Given the description of an element on the screen output the (x, y) to click on. 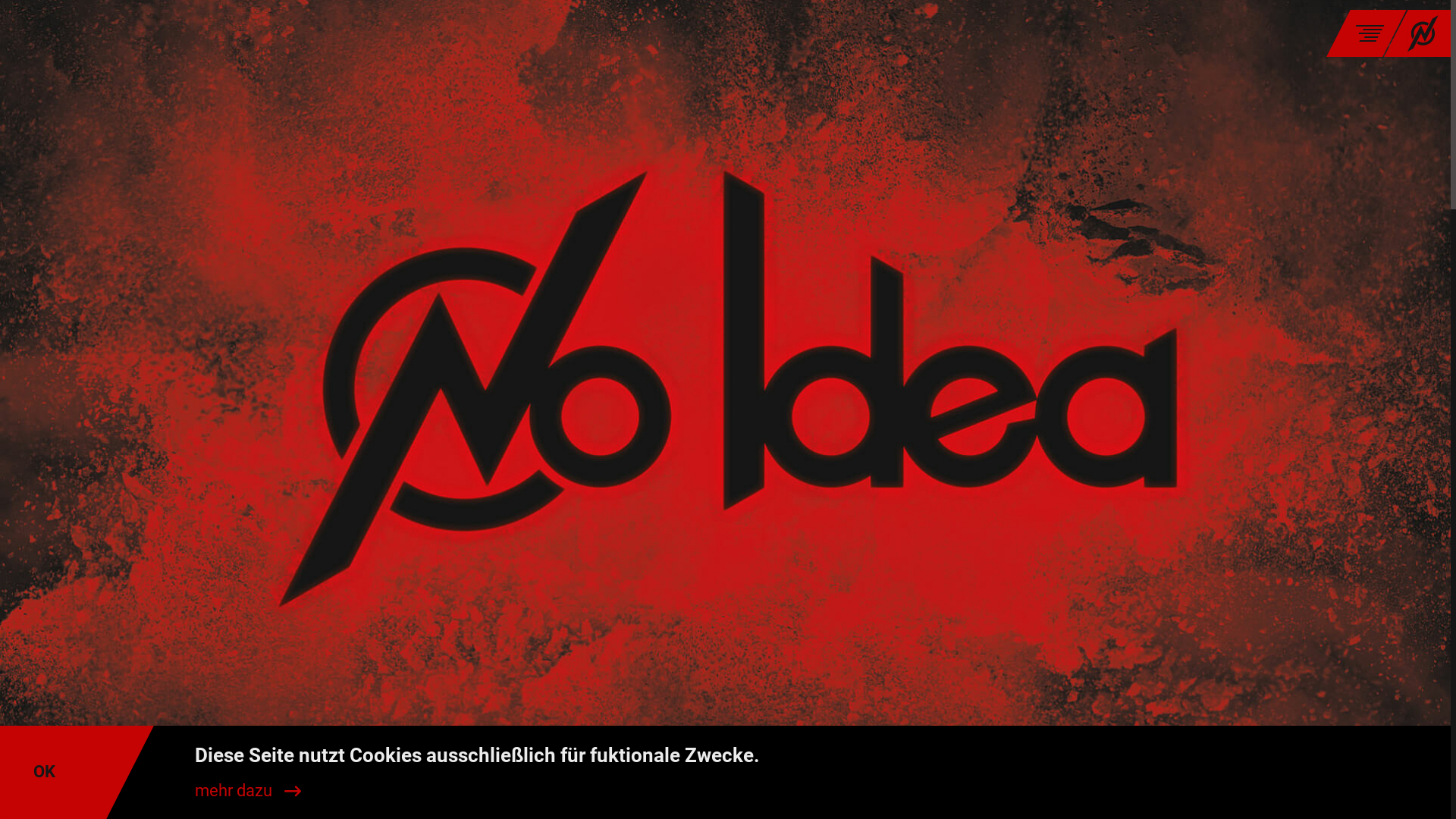
mehr dazu Element type: text (247, 791)
zur Startseite Element type: text (1411, 32)
